Given the description of an element on the screen output the (x, y) to click on. 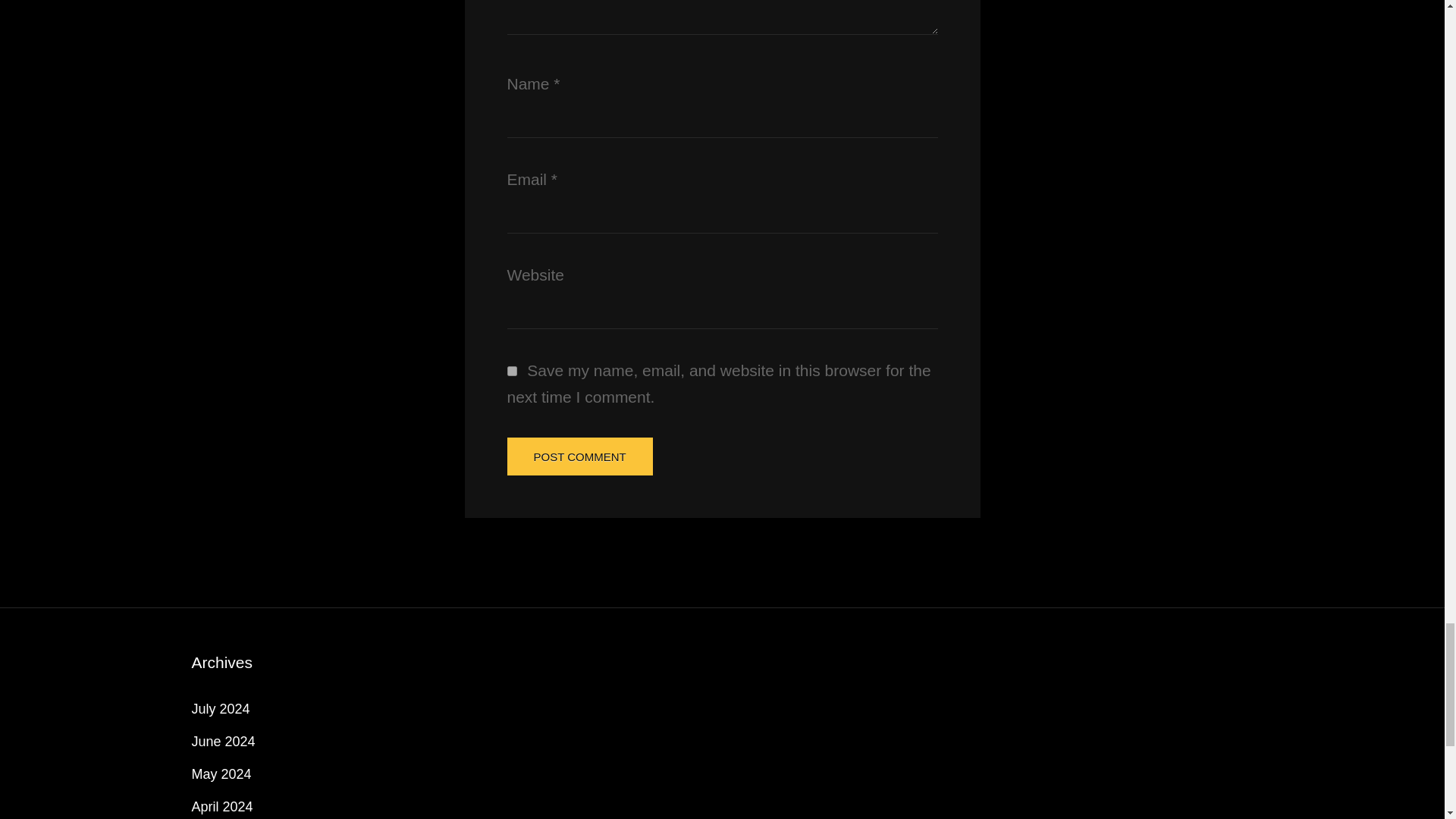
May 2024 (220, 774)
Post Comment (579, 456)
yes (511, 370)
Post Comment (579, 456)
June 2024 (222, 741)
July 2024 (219, 708)
April 2024 (220, 806)
